Given the description of an element on the screen output the (x, y) to click on. 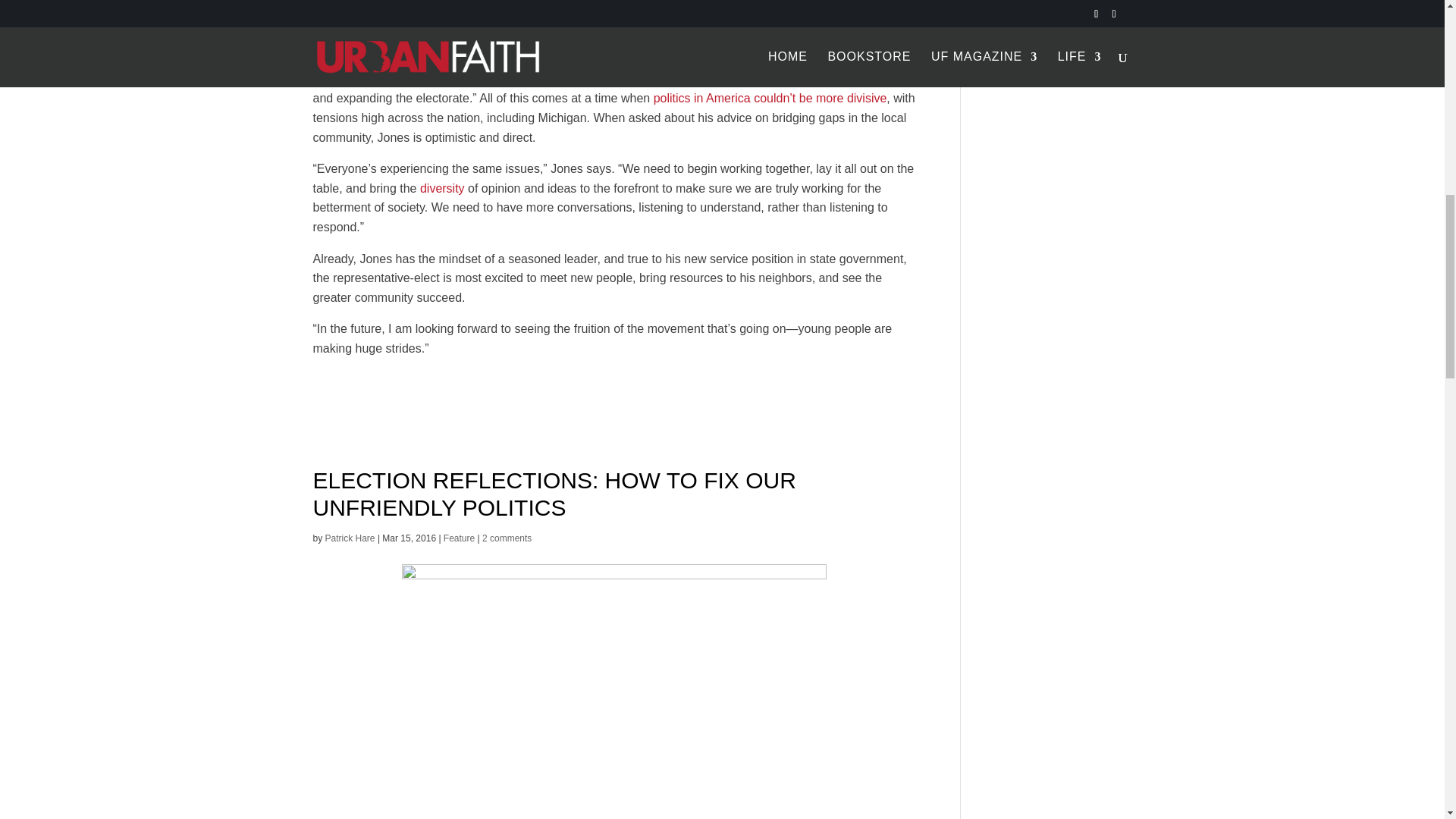
ELECTION REFLECTIONS: HOW TO FIX OUR UNFRIENDLY POLITICS (553, 493)
Posts by Patrick Hare (349, 538)
diversity (442, 187)
Patrick Hare (349, 538)
